Given the description of an element on the screen output the (x, y) to click on. 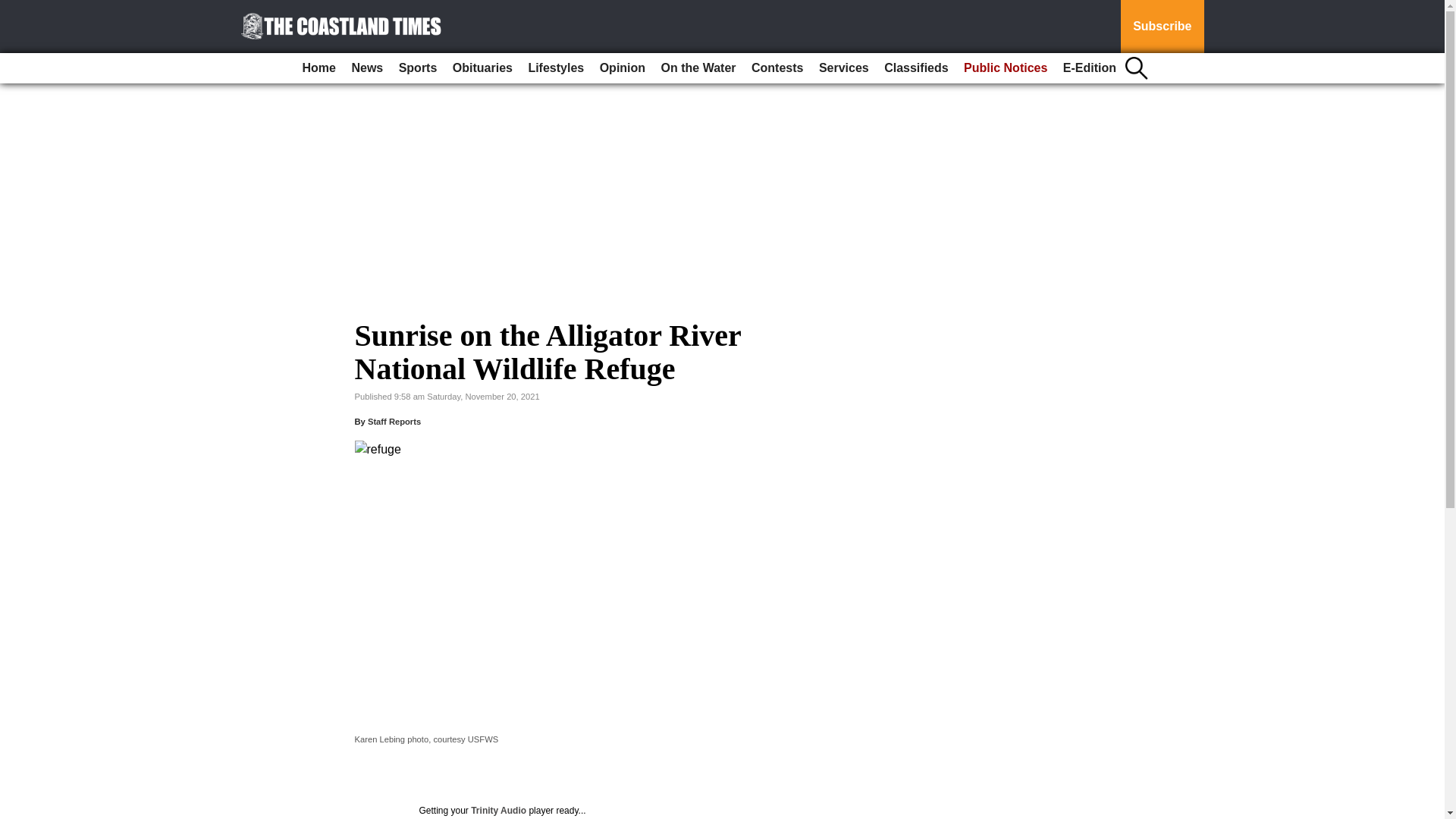
On the Water (698, 68)
News (366, 68)
Staff Reports (394, 420)
E-Edition (1089, 68)
Public Notices (1005, 68)
Subscribe (1162, 26)
Opinion (622, 68)
Obituaries (482, 68)
Home (319, 68)
Trinity Audio (497, 810)
